Given the description of an element on the screen output the (x, y) to click on. 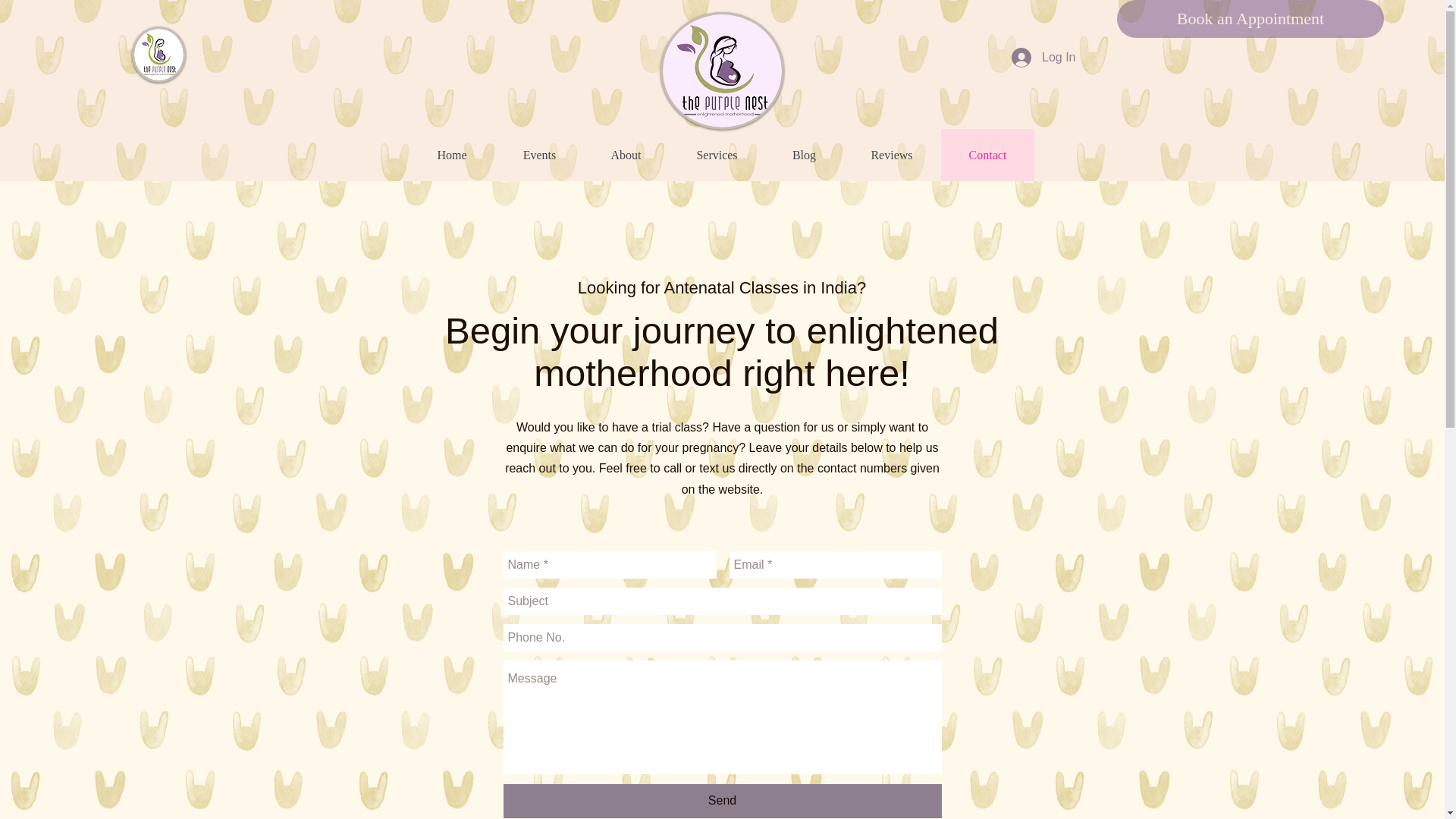
Reviews (890, 154)
Events (539, 154)
Blog (804, 154)
Send (722, 800)
About (625, 154)
Book an Appointment (1250, 18)
Contact (986, 154)
Services (715, 154)
Home (452, 154)
Log In (1043, 57)
